Given the description of an element on the screen output the (x, y) to click on. 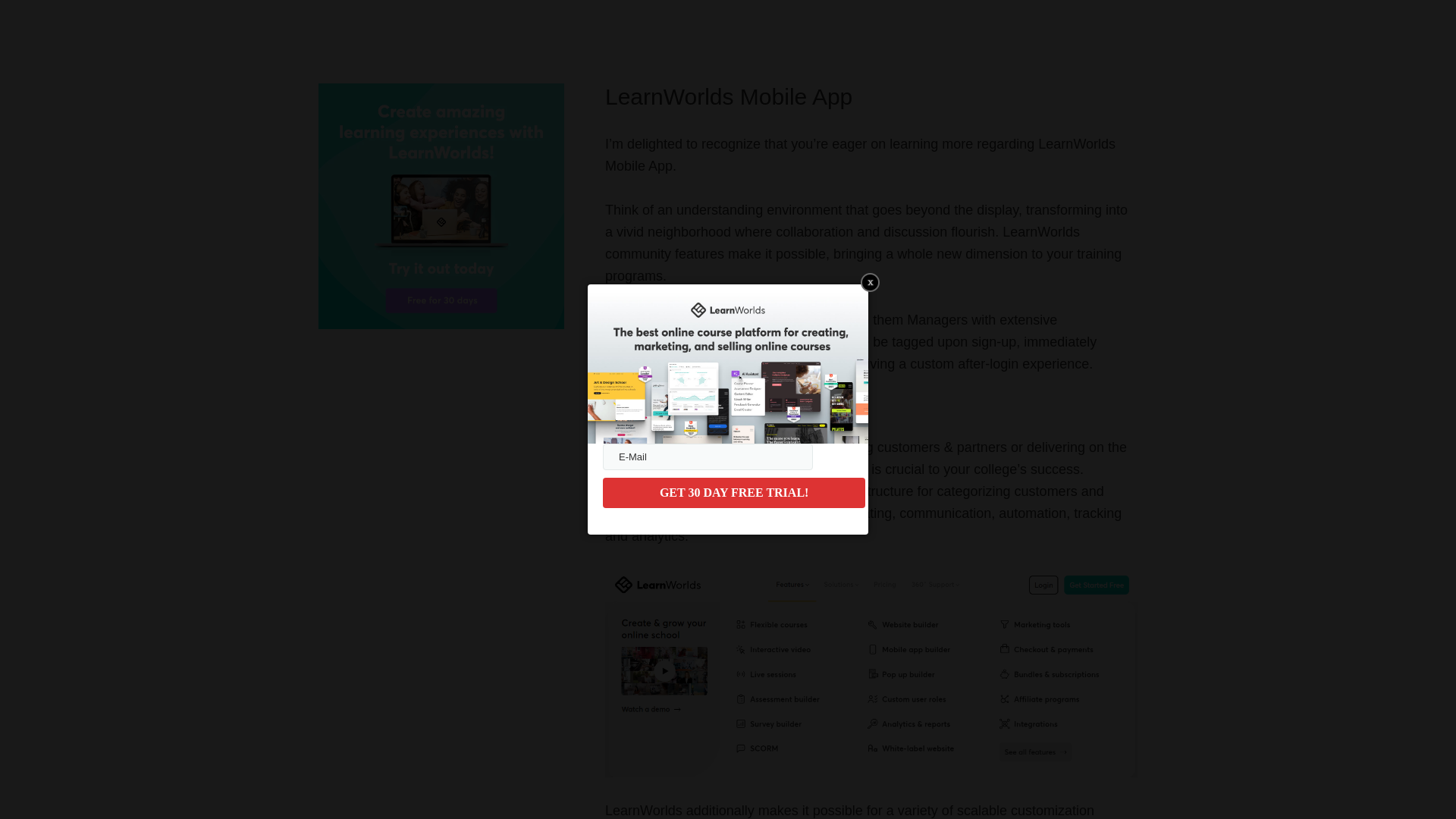
GET 30 DAY FREE TRIAL! (733, 492)
GET 30 DAY FREE TRIAL! (733, 492)
